Given the description of an element on the screen output the (x, y) to click on. 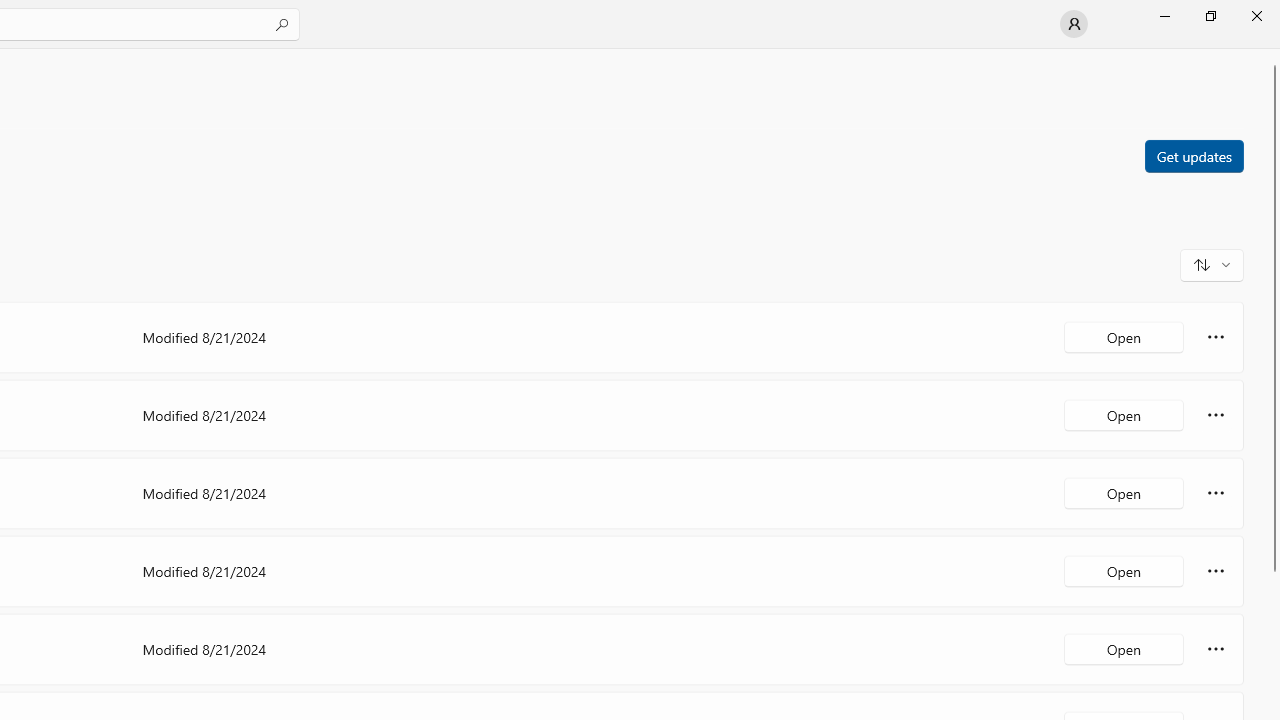
Restore Microsoft Store (1210, 15)
Sort and filter (1212, 263)
Close Microsoft Store (1256, 15)
More options (1215, 648)
Minimize Microsoft Store (1164, 15)
Open (1123, 648)
Vertical Small Decrease (1272, 55)
User profile (1073, 24)
Get updates (1193, 155)
